Given the description of an element on the screen output the (x, y) to click on. 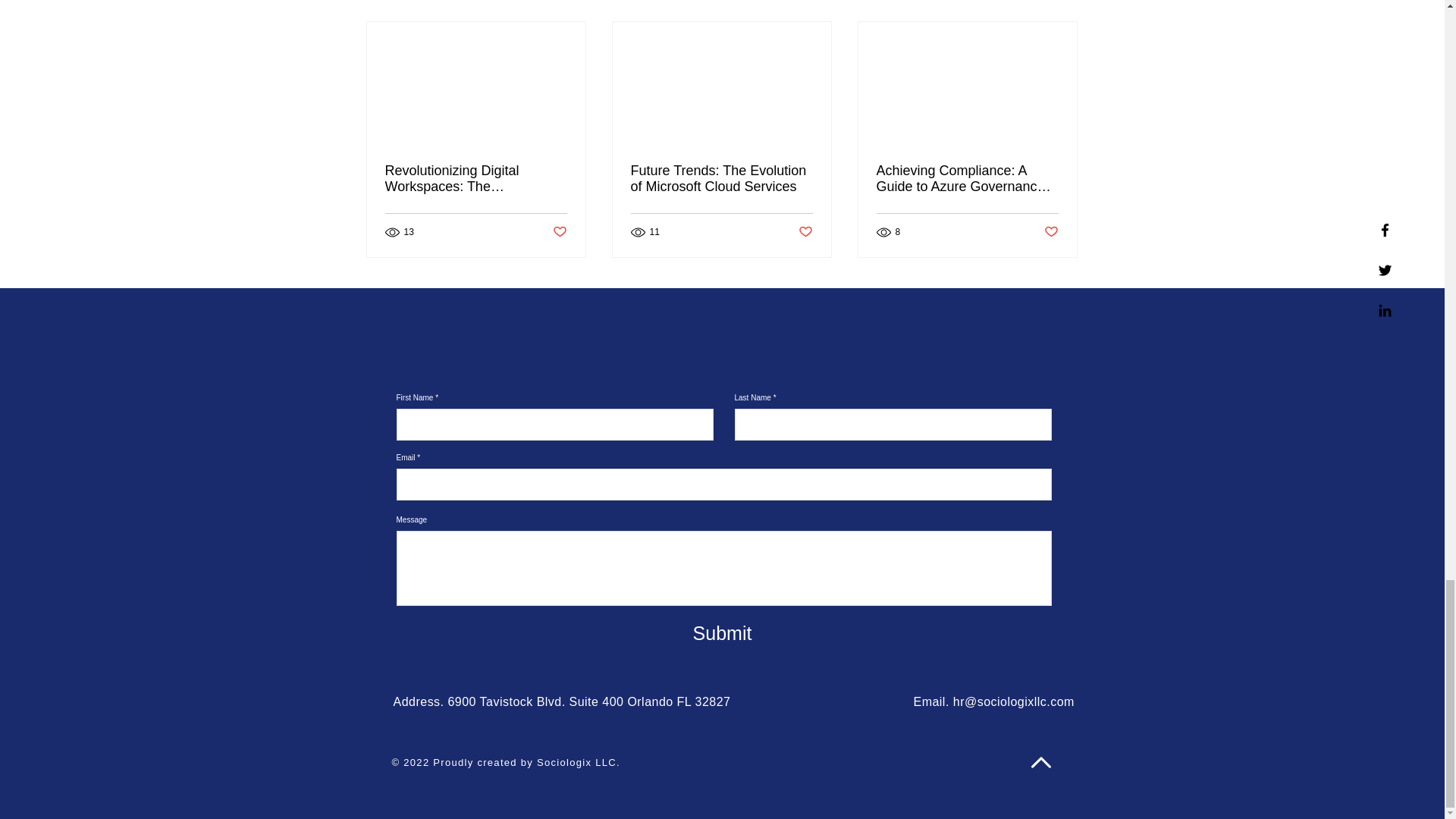
See All (1061, 2)
Post not marked as liked (804, 231)
Submit (722, 633)
Future Trends: The Evolution of Microsoft Cloud Services (721, 178)
Post not marked as liked (1050, 231)
Post not marked as liked (558, 231)
